Given the description of an element on the screen output the (x, y) to click on. 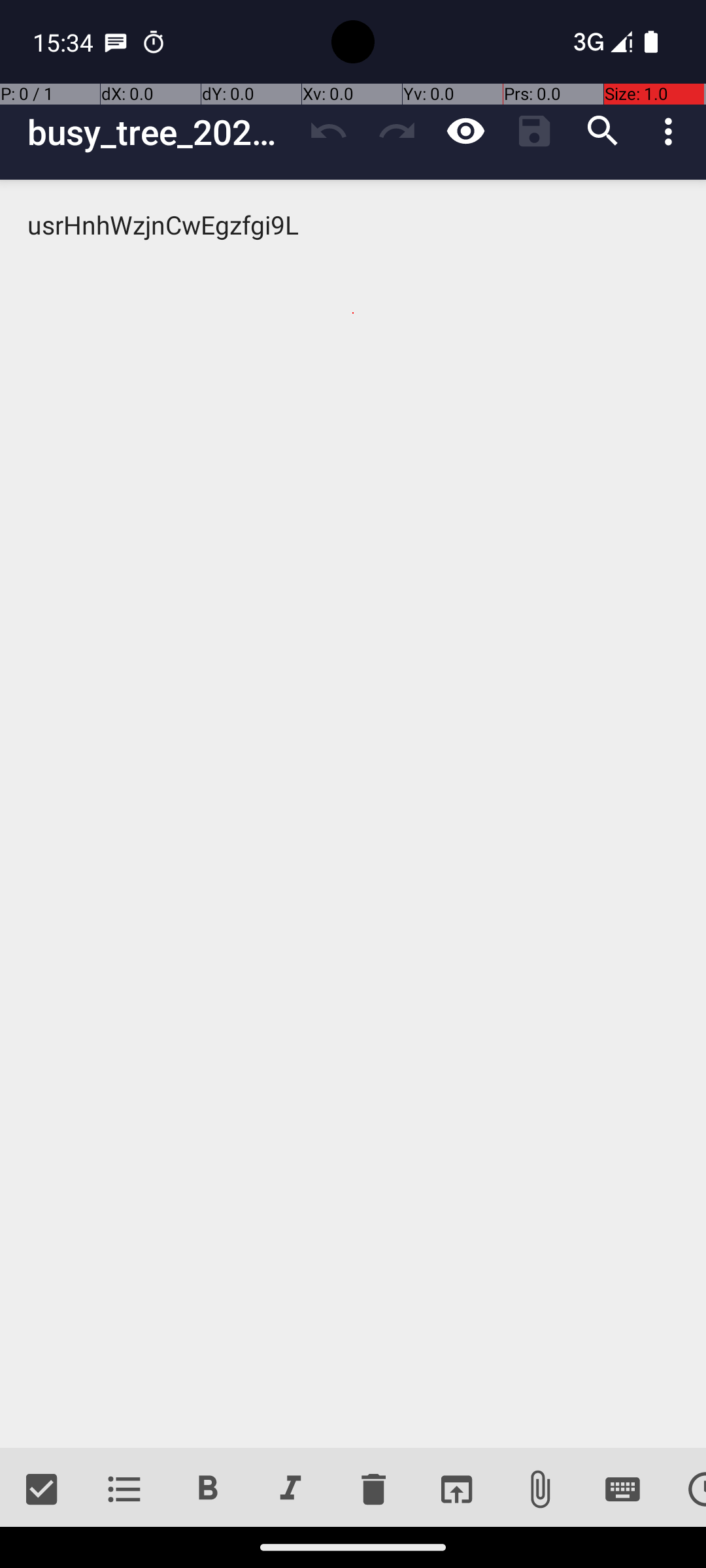
busy_tree_2023_09_20 Element type: android.widget.TextView (160, 131)
usrHnhWzjnCwEgzfgi9L
 Element type: android.widget.EditText (353, 813)
